Given the description of an element on the screen output the (x, y) to click on. 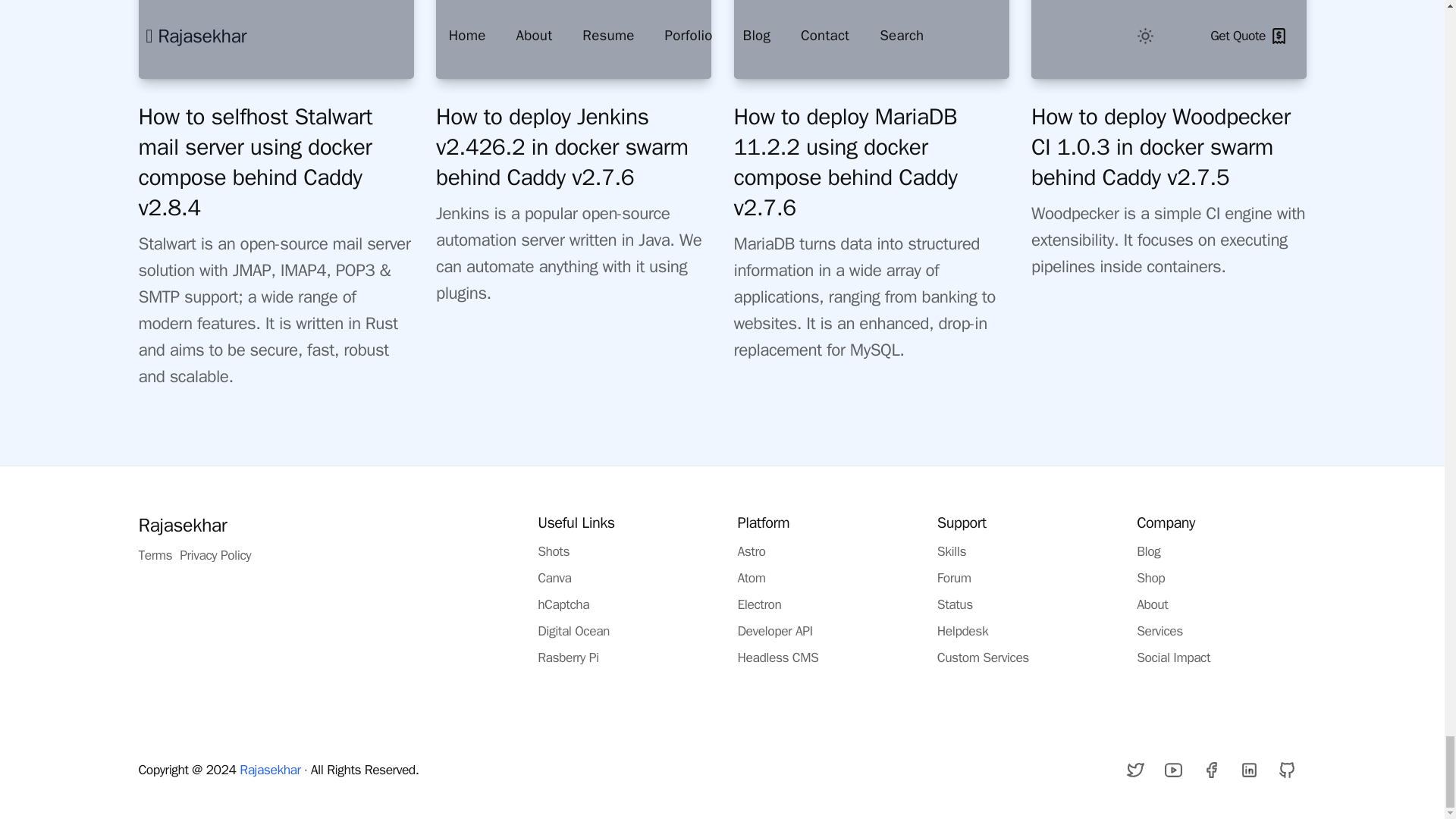
Electron (758, 604)
Developer API (774, 630)
Skills (951, 550)
Digital Ocean (573, 630)
Rasberry Pi (567, 657)
Rajasekhar (182, 524)
hCaptcha (563, 604)
Atom (750, 577)
Headless CMS (777, 657)
